Given the description of an element on the screen output the (x, y) to click on. 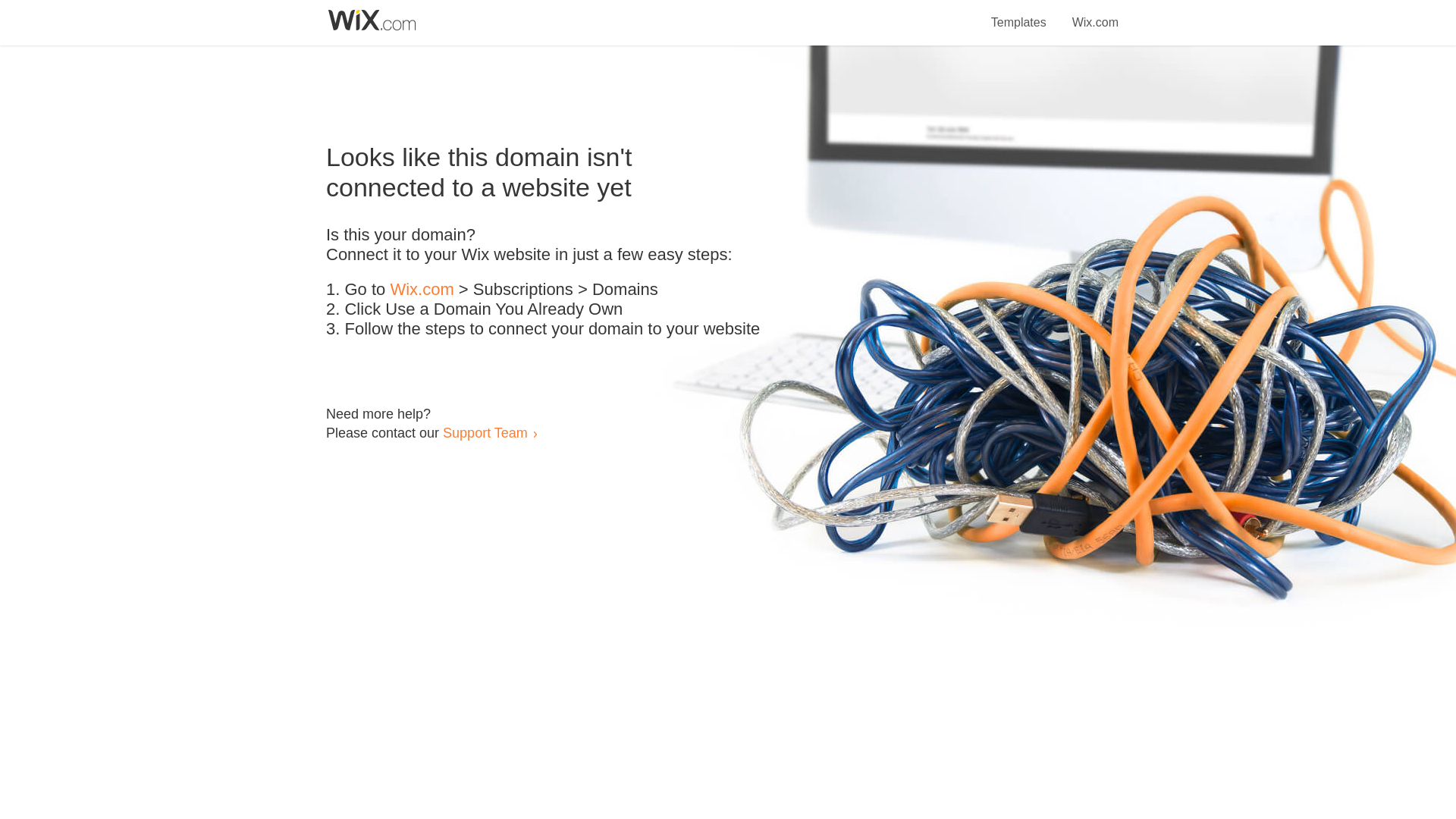
Wix.com (1095, 14)
Wix.com (421, 289)
Templates (1018, 14)
Support Team (484, 432)
